Given the description of an element on the screen output the (x, y) to click on. 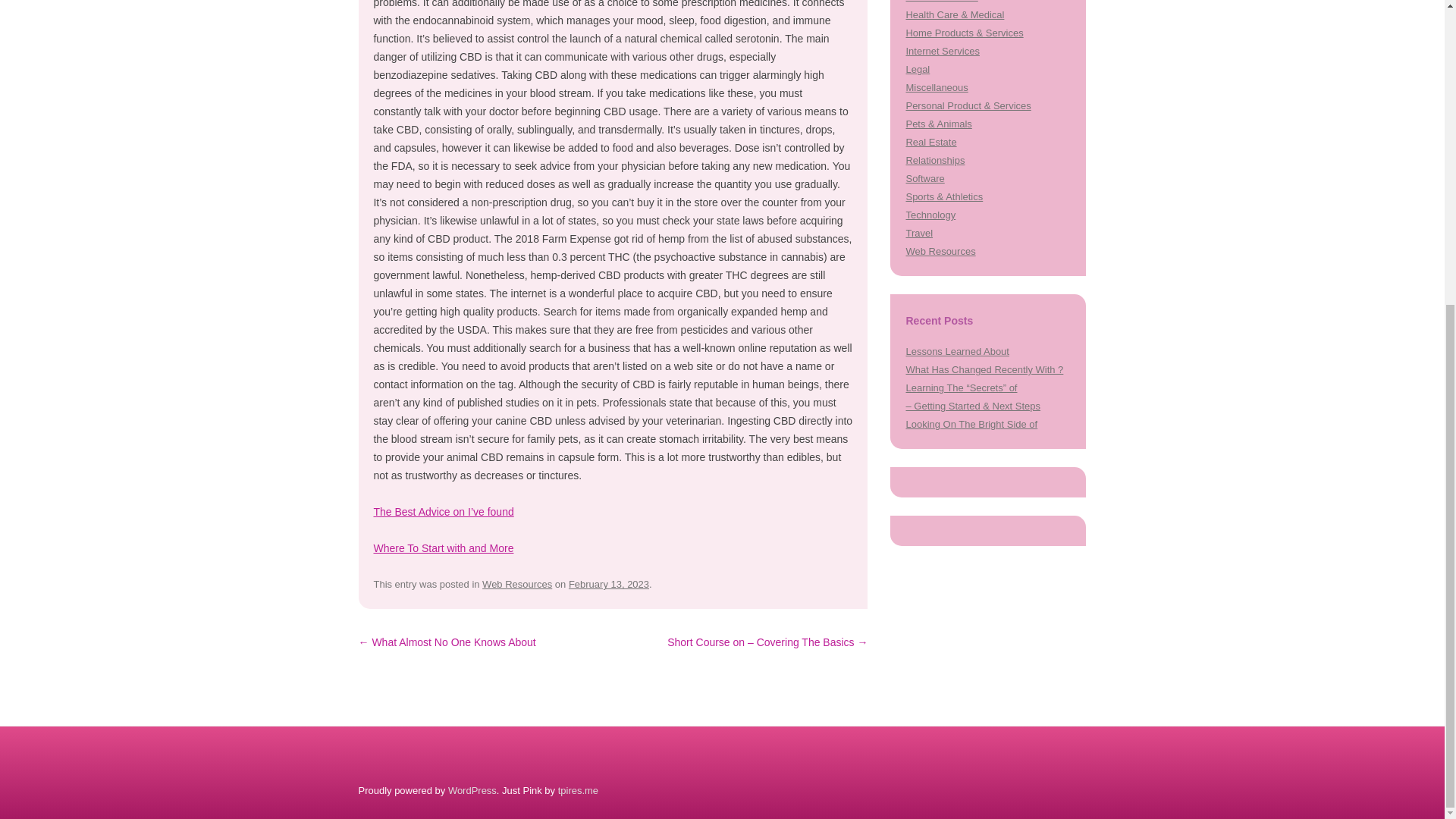
February 13, 2023 (609, 583)
7:20 am (609, 583)
Internet Services (941, 50)
Travel (919, 233)
Legal (917, 69)
Web Resources (516, 583)
What Has Changed Recently With ? (983, 369)
Lessons Learned About (957, 351)
Software (924, 178)
Technology (930, 214)
Where To Start with and More (442, 548)
Miscellaneous (936, 87)
Relationships (934, 160)
Web Resources (940, 251)
Real Estate (930, 142)
